Given the description of an element on the screen output the (x, y) to click on. 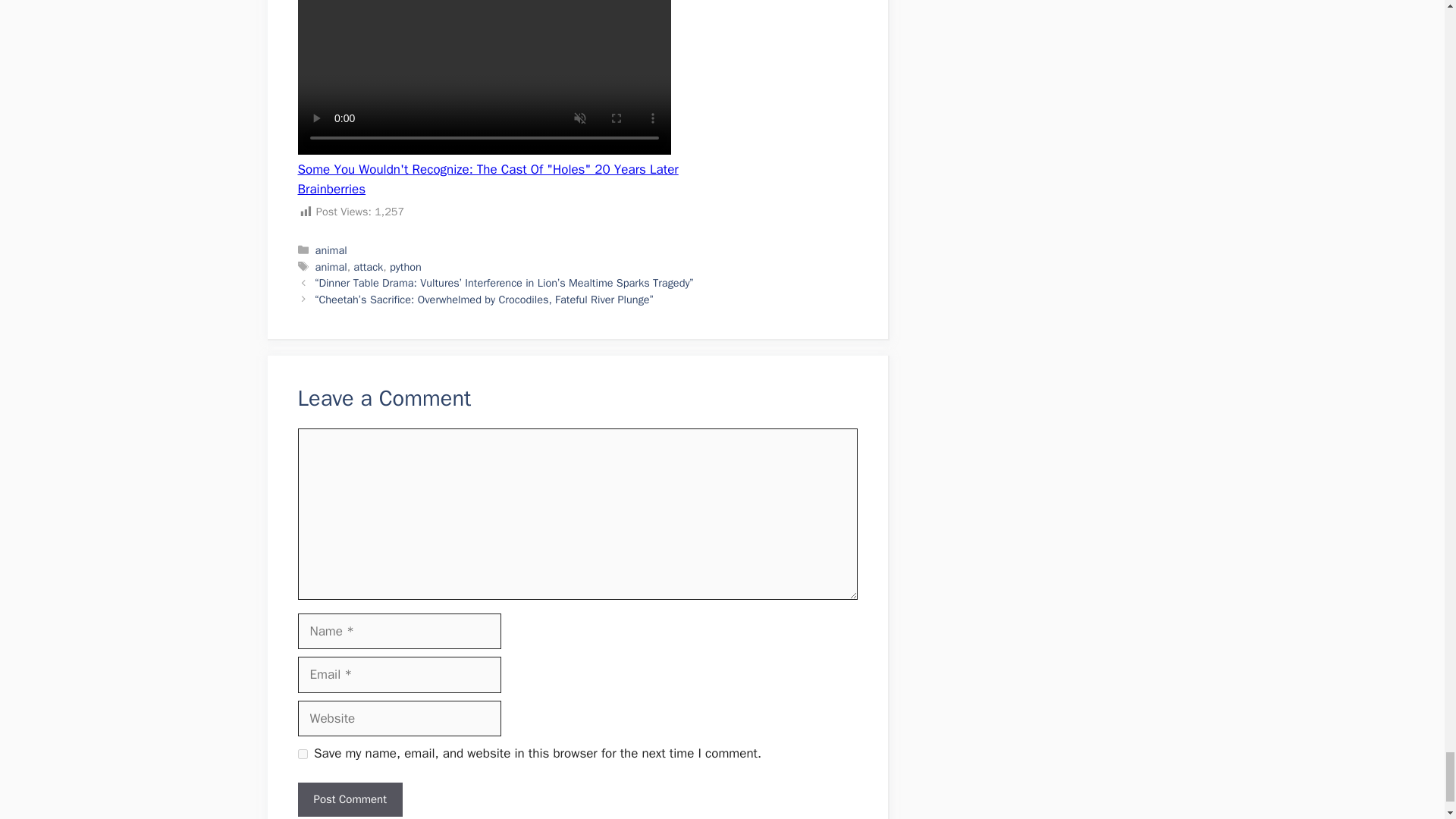
yes (302, 754)
python (406, 266)
animal (331, 250)
Post Comment (349, 799)
Post Comment (349, 799)
animal (331, 266)
attack (367, 266)
